Given the description of an element on the screen output the (x, y) to click on. 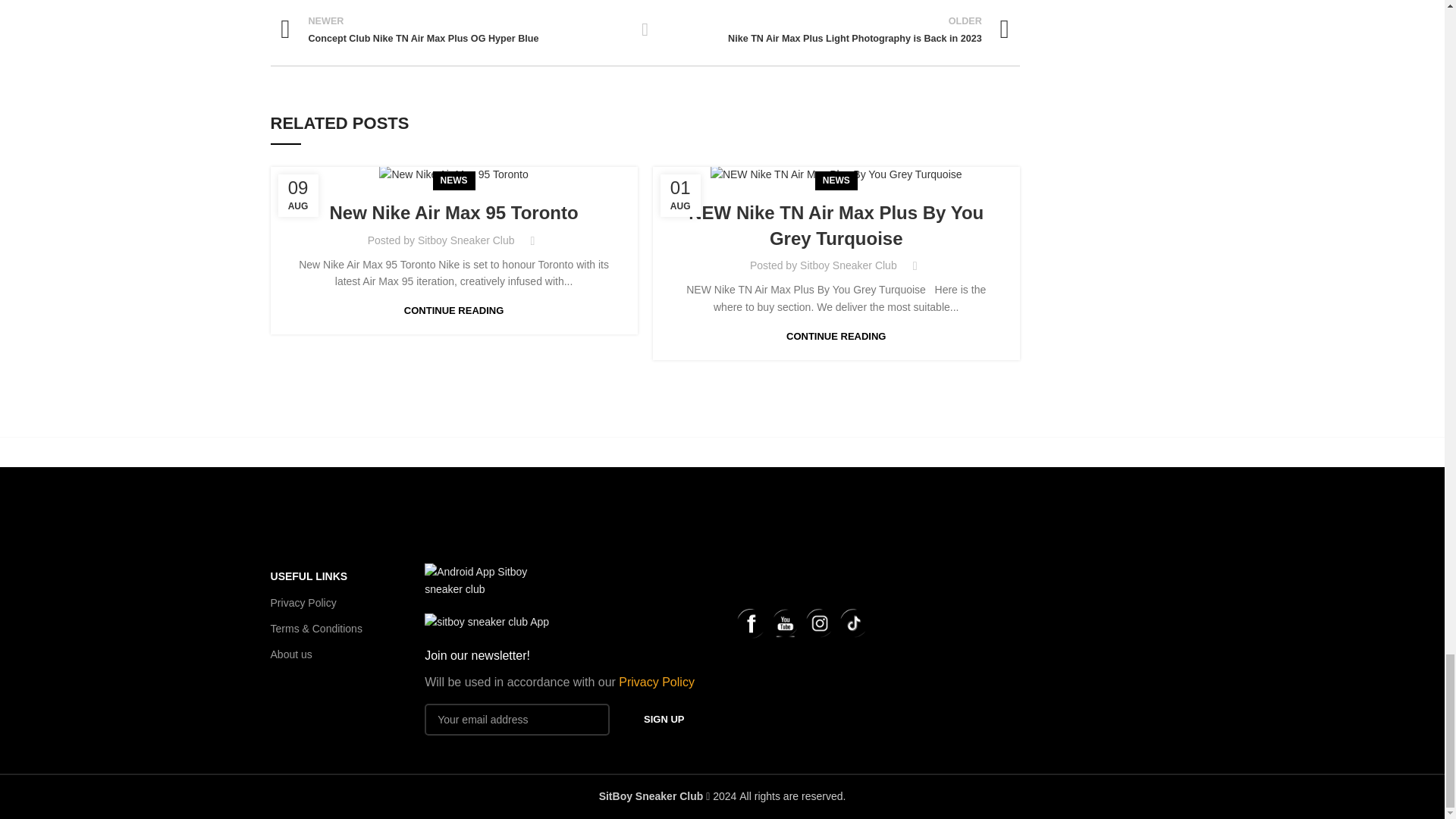
NEW Nike TN Air Max Plus By You Grey Turquoise (836, 174)
New Nike Air Max 95 Toronto (452, 174)
Sign up (663, 719)
